Given the description of an element on the screen output the (x, y) to click on. 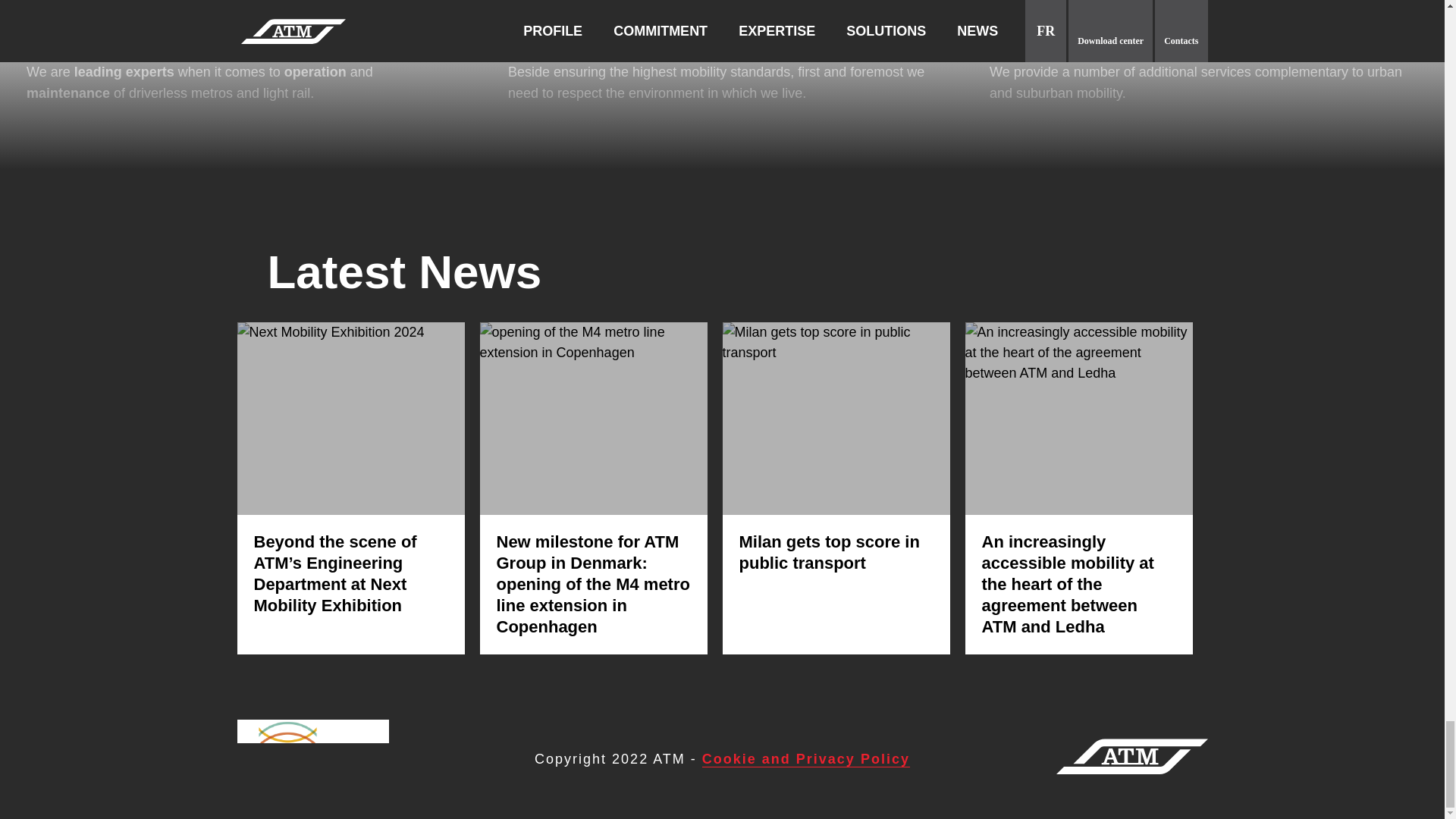
Other services (1204, 28)
Sustainable Cities (722, 28)
Public Transport (240, 28)
Cookie and Privacy Policy (805, 759)
Milan gets top score in public transport (828, 552)
